Given the description of an element on the screen output the (x, y) to click on. 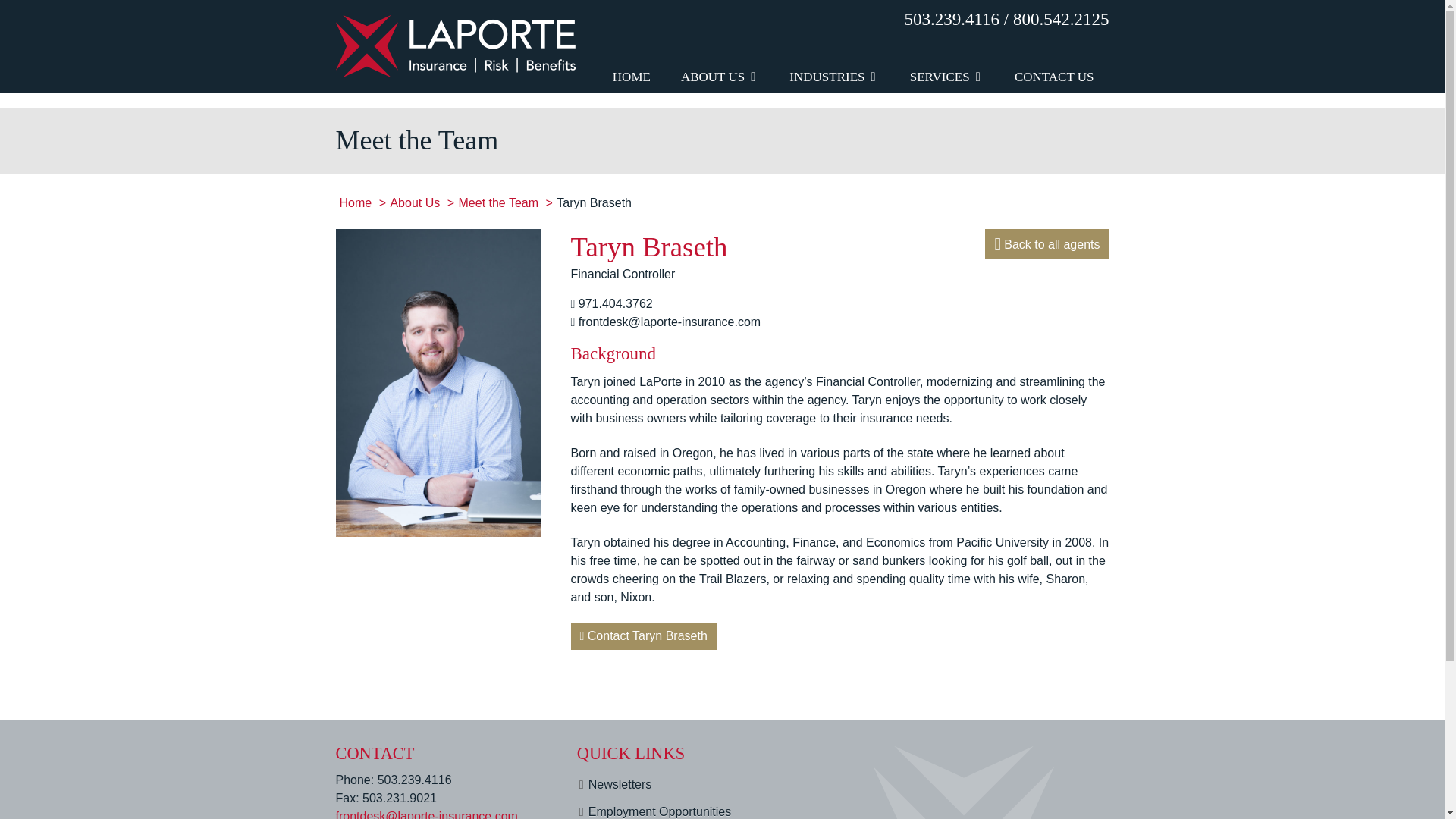
Newsletters (681, 784)
Meet the Team (498, 202)
Home (355, 202)
Contact Taryn Braseth (643, 636)
Back to all agents (1046, 243)
About Us (414, 202)
INDUSTRIES (834, 46)
Employment Opportunities (681, 809)
About Us (414, 202)
971.404.3762 (615, 303)
Contact Taryn Braseth (643, 636)
Home (355, 202)
Meet the Team (498, 202)
LaPorte Insurance (454, 44)
